Given the description of an element on the screen output the (x, y) to click on. 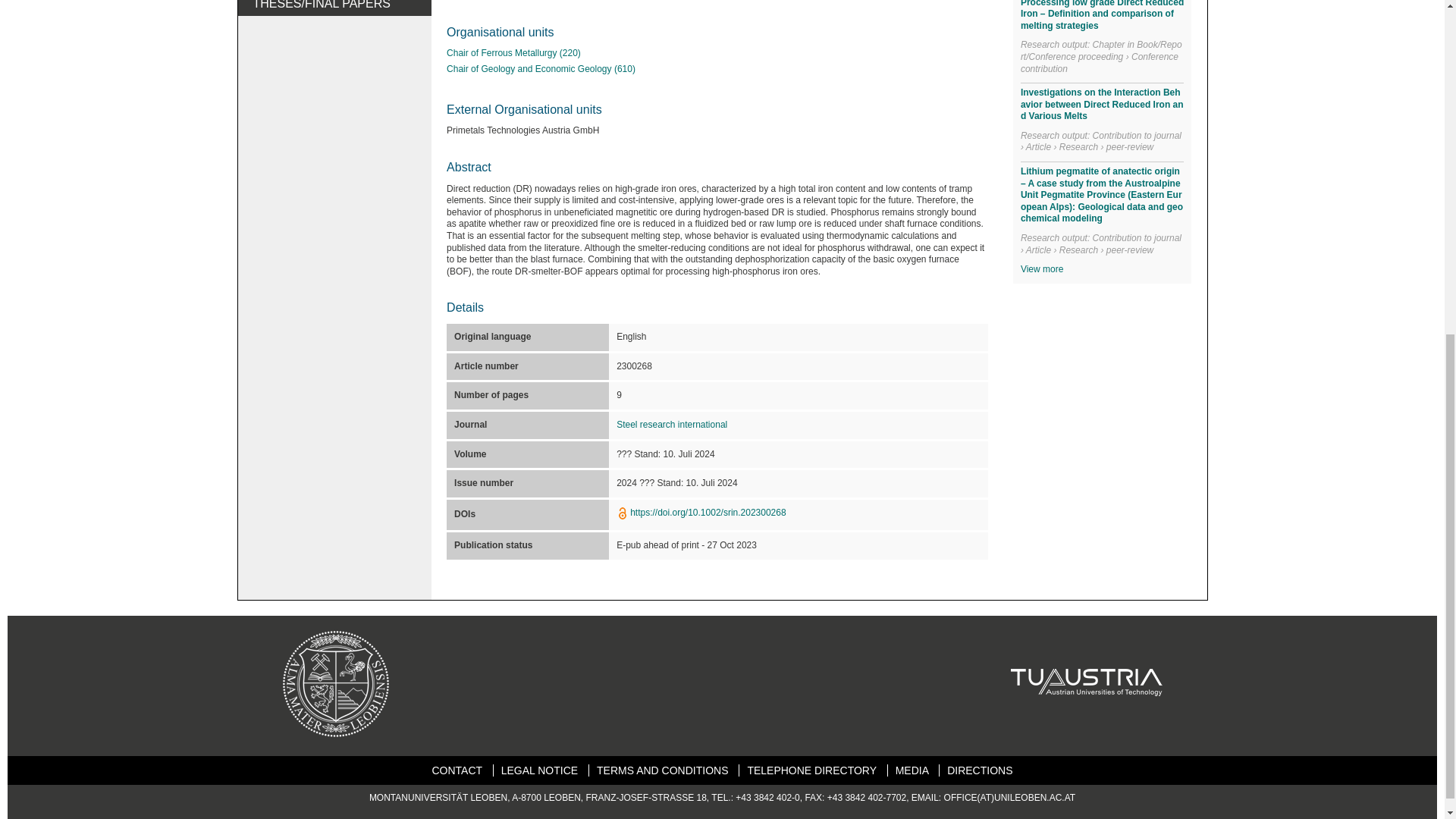
LEGAL NOTICE (539, 770)
Steel research international (670, 424)
TERMS AND CONDITIONS (662, 770)
MEDIA (911, 770)
TELEPHONE DIRECTORY (811, 770)
DIRECTIONS (979, 770)
View more (1041, 268)
CONTACT (455, 770)
